Given the description of an element on the screen output the (x, y) to click on. 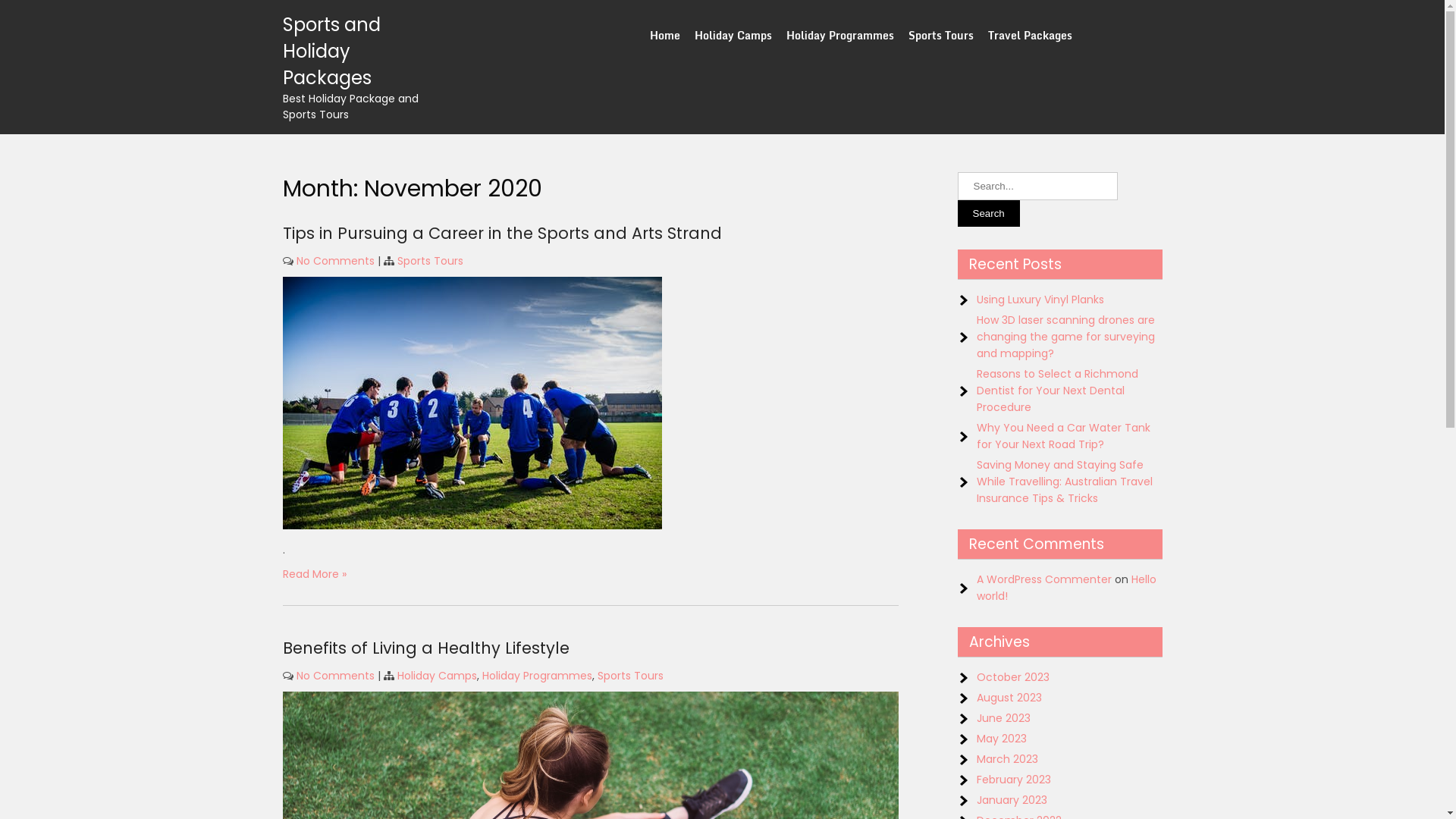
Tips in Pursuing a Career in the Sports and Arts Strand Element type: text (501, 233)
Sports Tours Element type: text (940, 35)
March 2023 Element type: text (1007, 758)
A WordPress Commenter Element type: text (1043, 578)
October 2023 Element type: text (1012, 676)
Holiday Programmes Element type: text (839, 35)
Using Luxury Vinyl Planks Element type: text (1040, 299)
Benefits of Living a Healthy Lifestyle Element type: text (425, 647)
January 2023 Element type: text (1011, 799)
August 2023 Element type: text (1008, 697)
Search Element type: text (988, 213)
No Comments Element type: text (334, 260)
Holiday Camps Element type: text (732, 35)
Hello world! Element type: text (1066, 587)
Why You Need a Car Water Tank for Your Next Road Trip? Element type: text (1063, 435)
Holiday Camps Element type: text (436, 675)
February 2023 Element type: text (1013, 779)
Sports and Holiday Packages Element type: text (330, 51)
May 2023 Element type: text (1001, 738)
Home Element type: text (665, 35)
Sports Tours Element type: text (430, 260)
No Comments Element type: text (334, 675)
Travel Packages Element type: text (1030, 35)
Holiday Programmes Element type: text (537, 675)
June 2023 Element type: text (1003, 717)
Sports Tours Element type: text (630, 675)
